Given the description of an element on the screen output the (x, y) to click on. 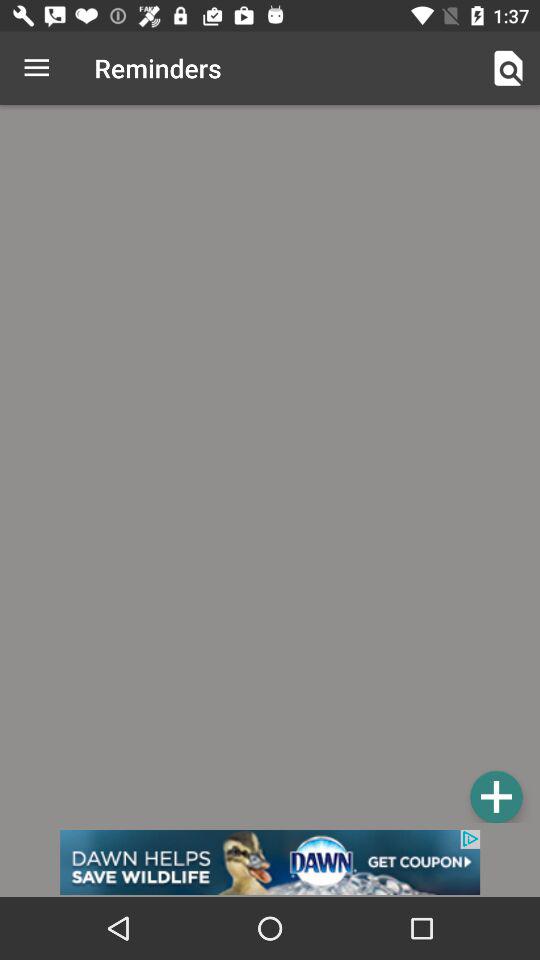
pop-up advertisement (270, 861)
